Given the description of an element on the screen output the (x, y) to click on. 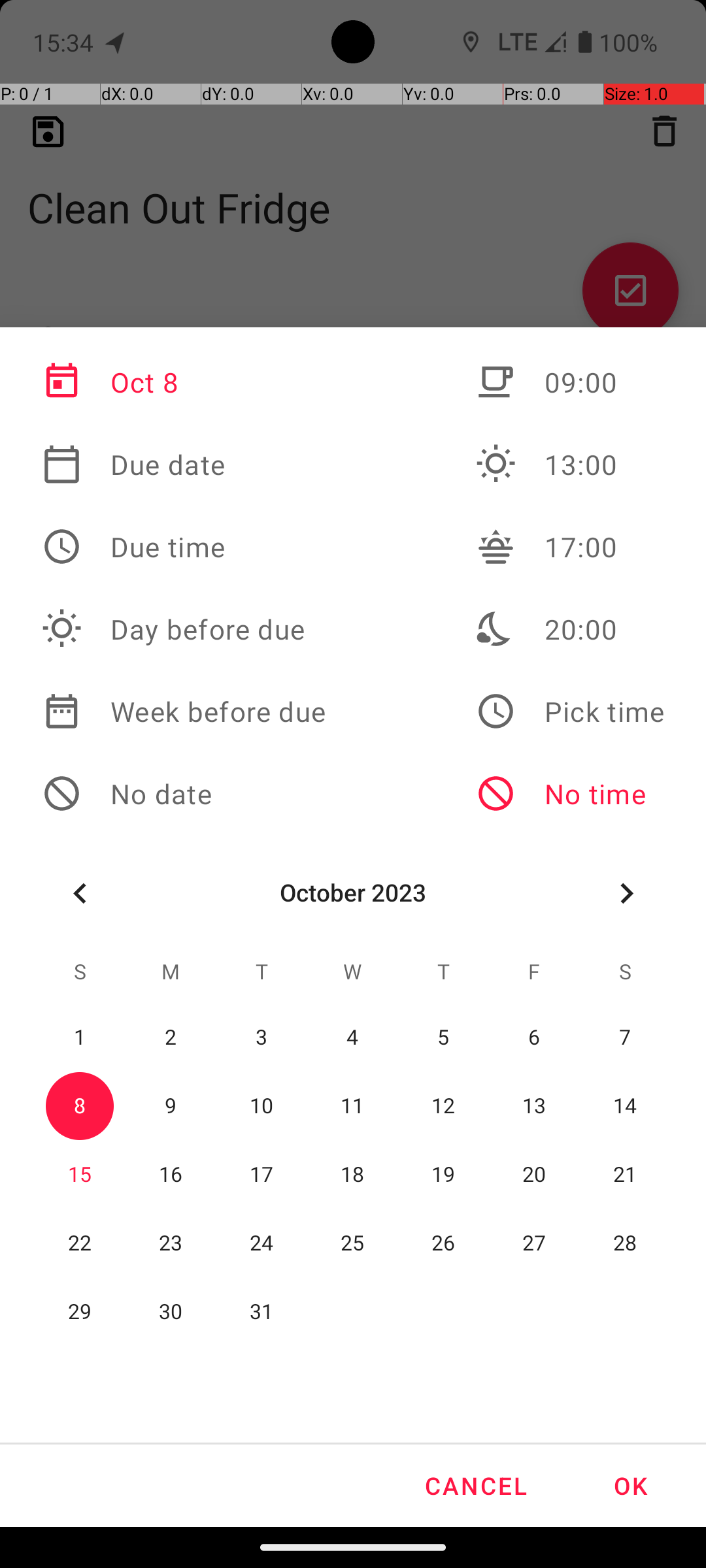
Due date Element type: android.widget.CompoundButton (183, 464)
Due time Element type: android.widget.CompoundButton (183, 546)
Day before due Element type: android.widget.CompoundButton (183, 629)
Week before due Element type: android.widget.CompoundButton (183, 711)
